Given the description of an element on the screen output the (x, y) to click on. 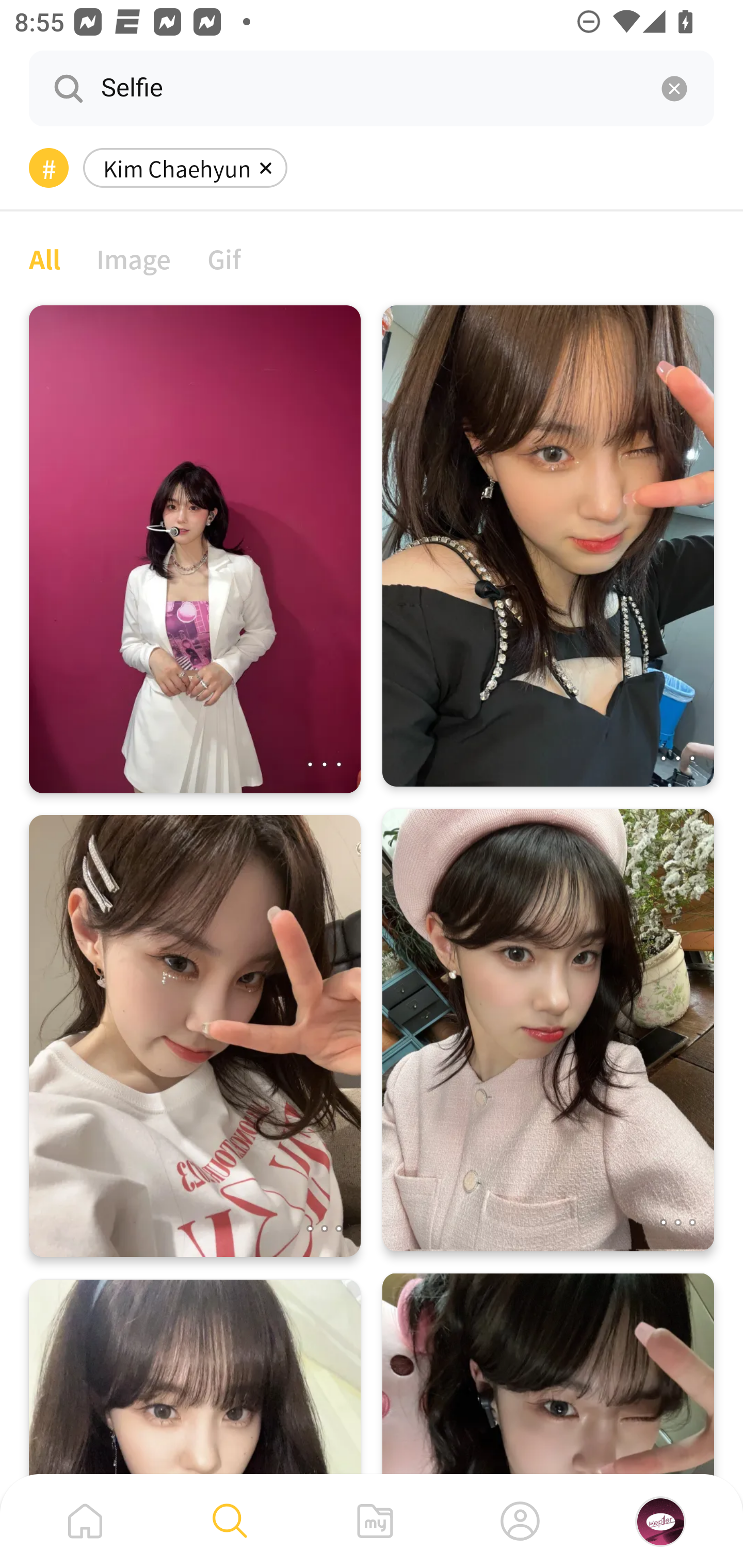
All (44, 257)
Image (133, 257)
Gif (223, 257)
